Given the description of an element on the screen output the (x, y) to click on. 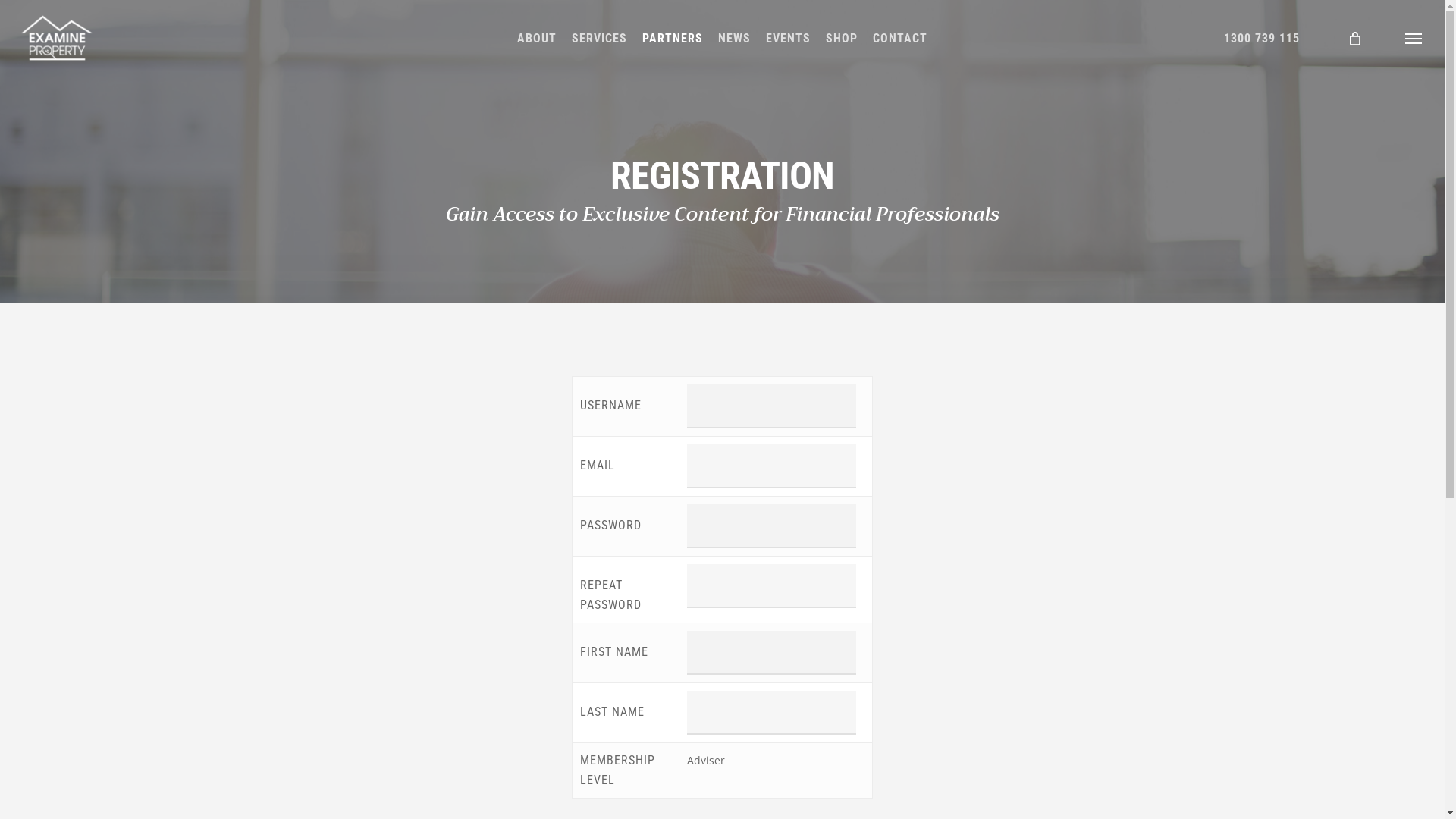
SERVICES Element type: text (599, 37)
CONTACT Element type: text (900, 37)
facebook Element type: text (1102, 793)
RSS Element type: text (1188, 793)
ABOUT Element type: text (536, 37)
linkedin Element type: text (1128, 793)
Menu Element type: text (1413, 37)
1300 739 115 Element type: text (1261, 37)
NEWS Element type: text (734, 37)
subscribe Element type: text (1009, 692)
EVENTS Element type: text (788, 37)
youtube Element type: text (1159, 793)
PARTNERS Element type: text (672, 37)
SHOP Element type: text (841, 37)
